Given the description of an element on the screen output the (x, y) to click on. 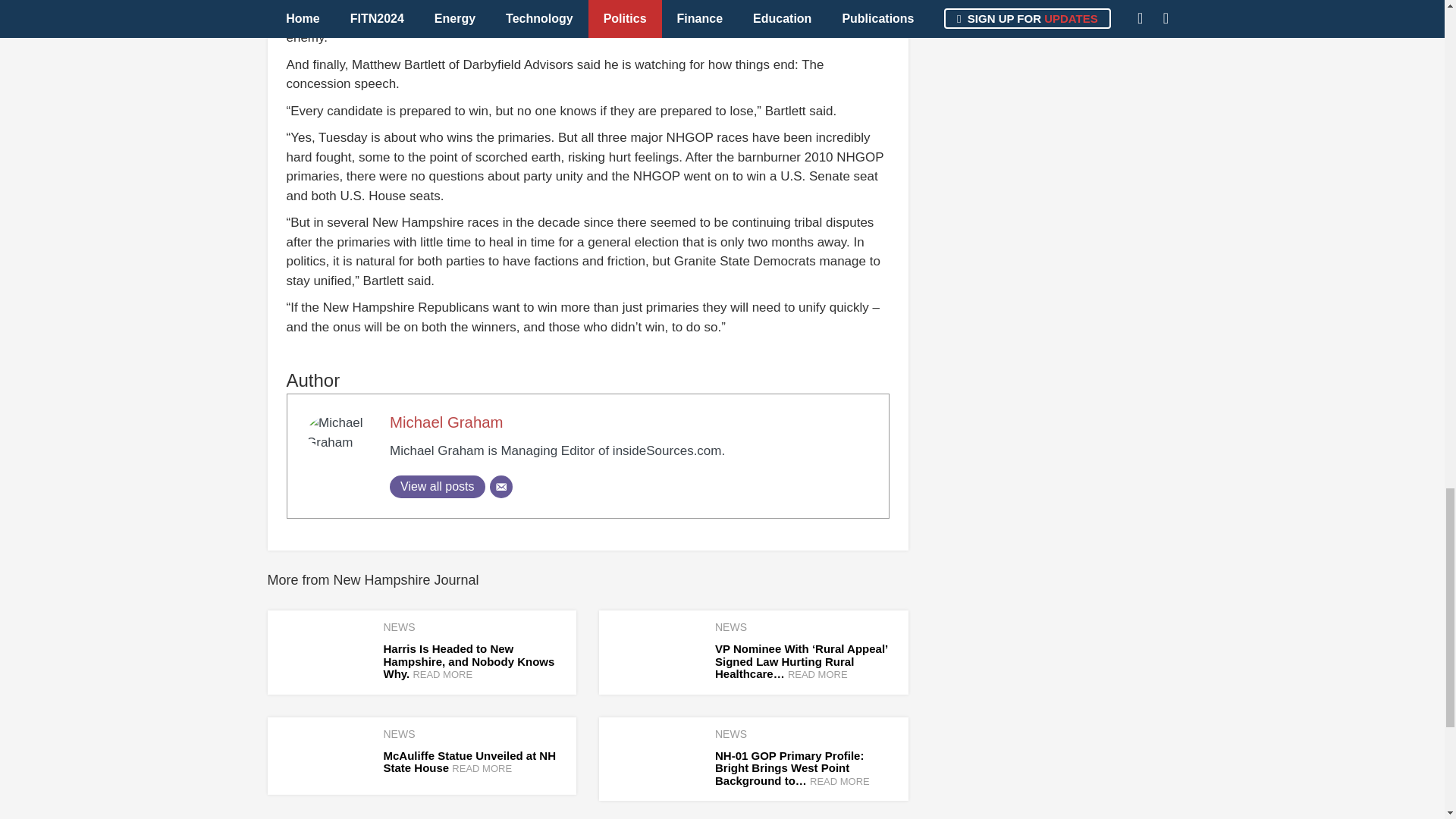
Michael Graham (446, 422)
McAuliffe Statue Unveiled at NH State House READ MORE (470, 761)
Michael Graham (446, 422)
View all posts (437, 486)
View all posts (437, 486)
